Given the description of an element on the screen output the (x, y) to click on. 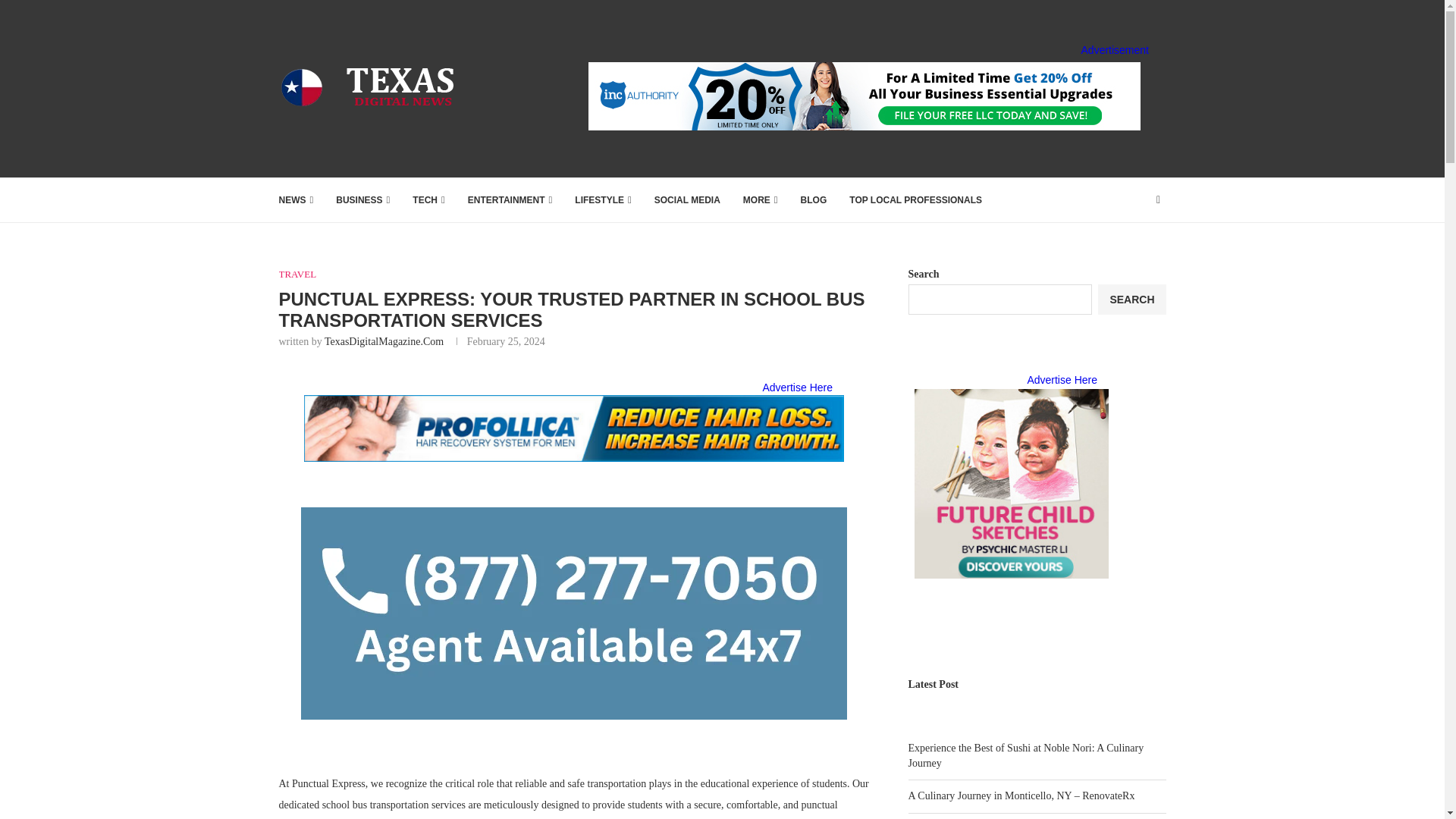
TECH (428, 199)
SOCIAL MEDIA (686, 199)
BUSINESS (363, 199)
ENTERTAINMENT (510, 199)
TOP LOCAL PROFESSIONALS (914, 199)
MORE (759, 199)
LIFESTYLE (602, 199)
BLOG (813, 199)
TRAVEL (298, 274)
NEWS (296, 199)
